Given the description of an element on the screen output the (x, y) to click on. 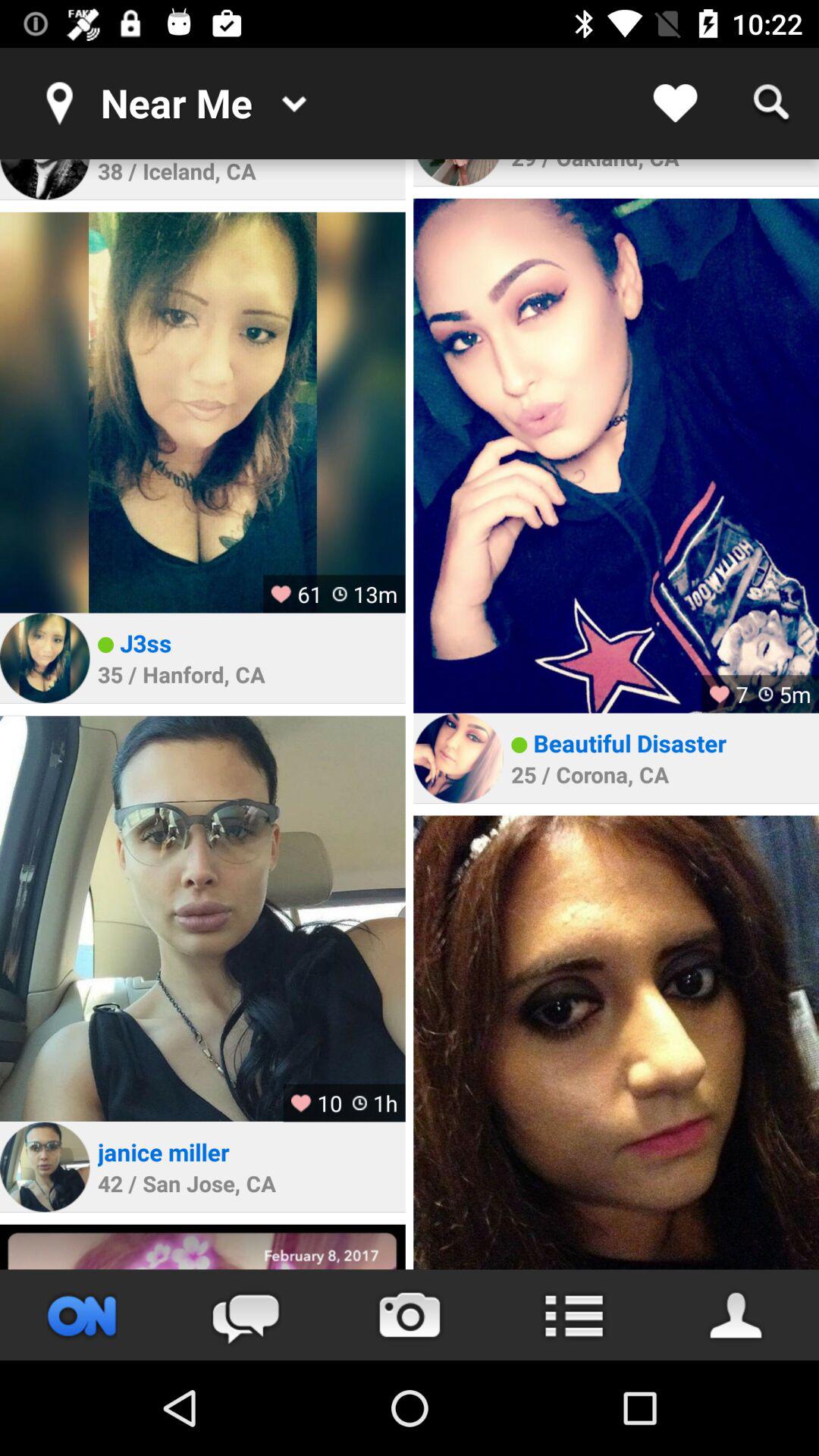
open profile (44, 1167)
